Given the description of an element on the screen output the (x, y) to click on. 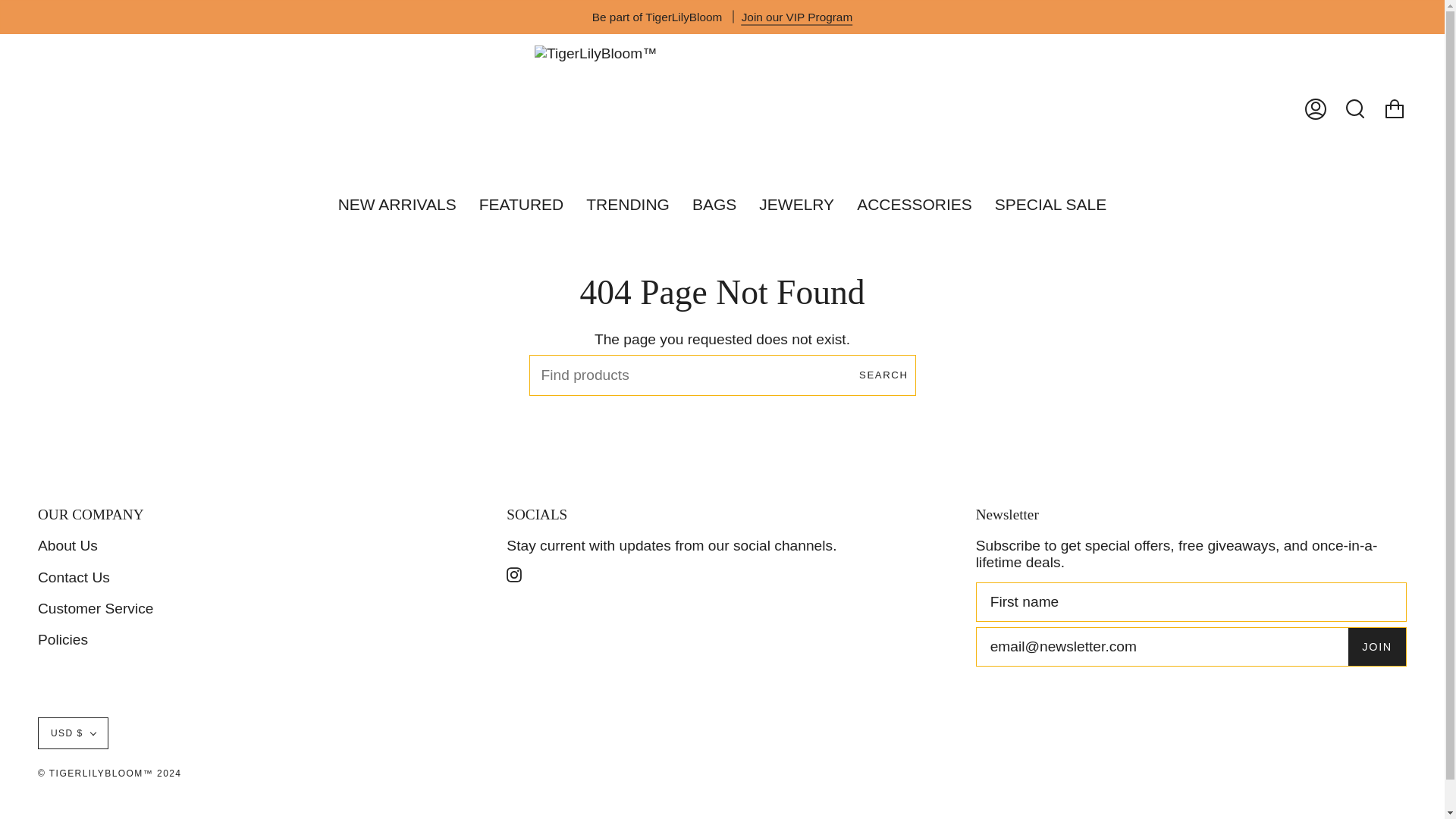
FEATURED (521, 204)
Rewards (797, 17)
JEWELRY (796, 204)
Join our VIP Program (797, 17)
TRENDING (628, 204)
NEW ARRIVALS (396, 204)
BAGS (714, 204)
